Given the description of an element on the screen output the (x, y) to click on. 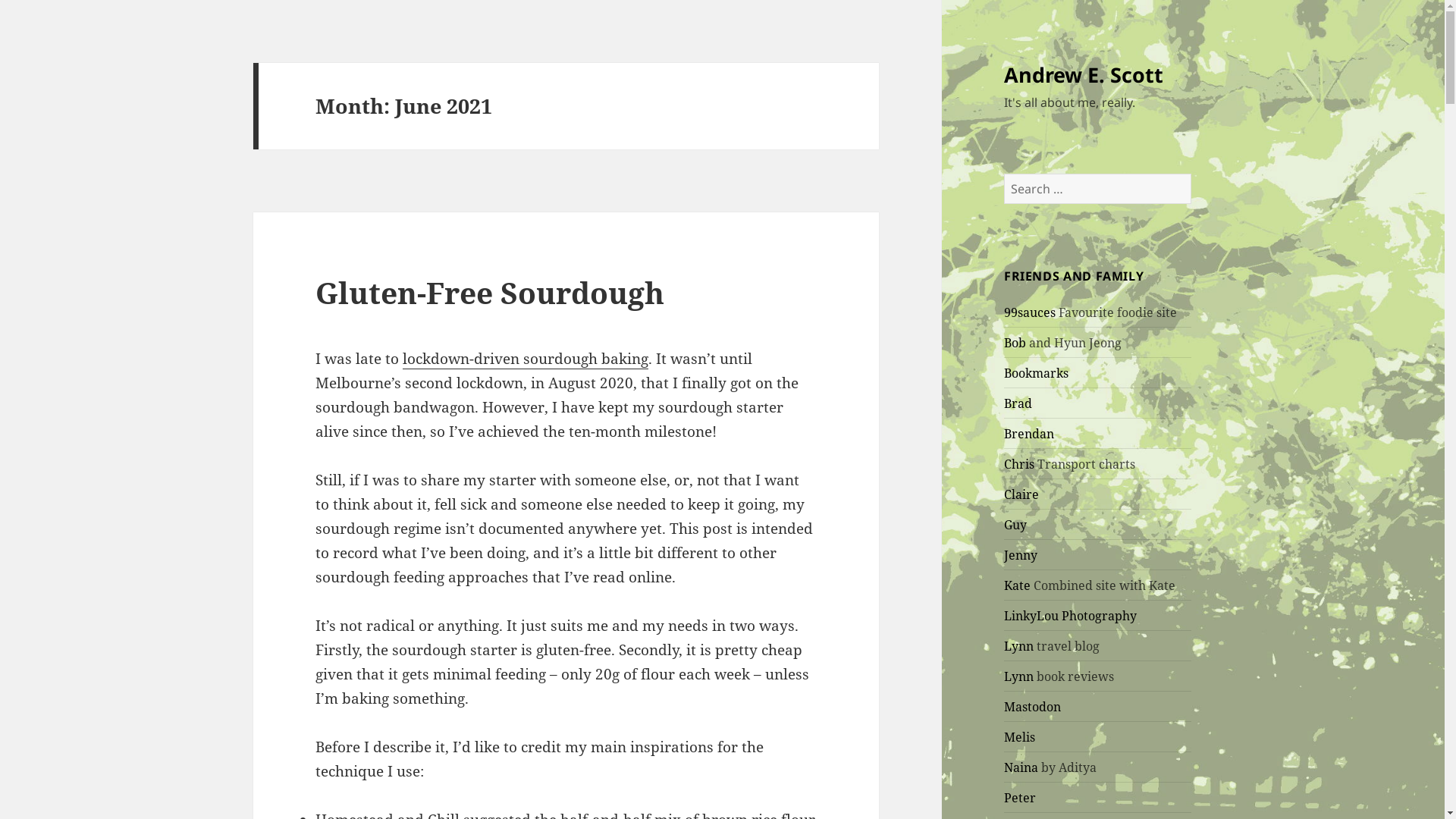
lockdown-driven sourdough baking Element type: text (525, 358)
Mastodon Element type: text (1032, 706)
Naina Element type: text (1021, 767)
99sauces Element type: text (1029, 312)
Brendan Element type: text (1029, 433)
Andrew E. Scott Element type: text (1083, 74)
Guy Element type: text (1015, 524)
Lynn Element type: text (1018, 645)
Chris Element type: text (1019, 463)
Lynn Element type: text (1018, 676)
LinkyLou Photography Element type: text (1070, 615)
Bob Element type: text (1015, 342)
Peter Element type: text (1019, 797)
Claire Element type: text (1021, 494)
Melis Element type: text (1019, 736)
Search Element type: text (1190, 172)
Brad Element type: text (1018, 403)
Jenny Element type: text (1020, 554)
Gluten-Free Sourdough Element type: text (489, 292)
Bookmarks Element type: text (1036, 372)
Kate Element type: text (1017, 585)
